Given the description of an element on the screen output the (x, y) to click on. 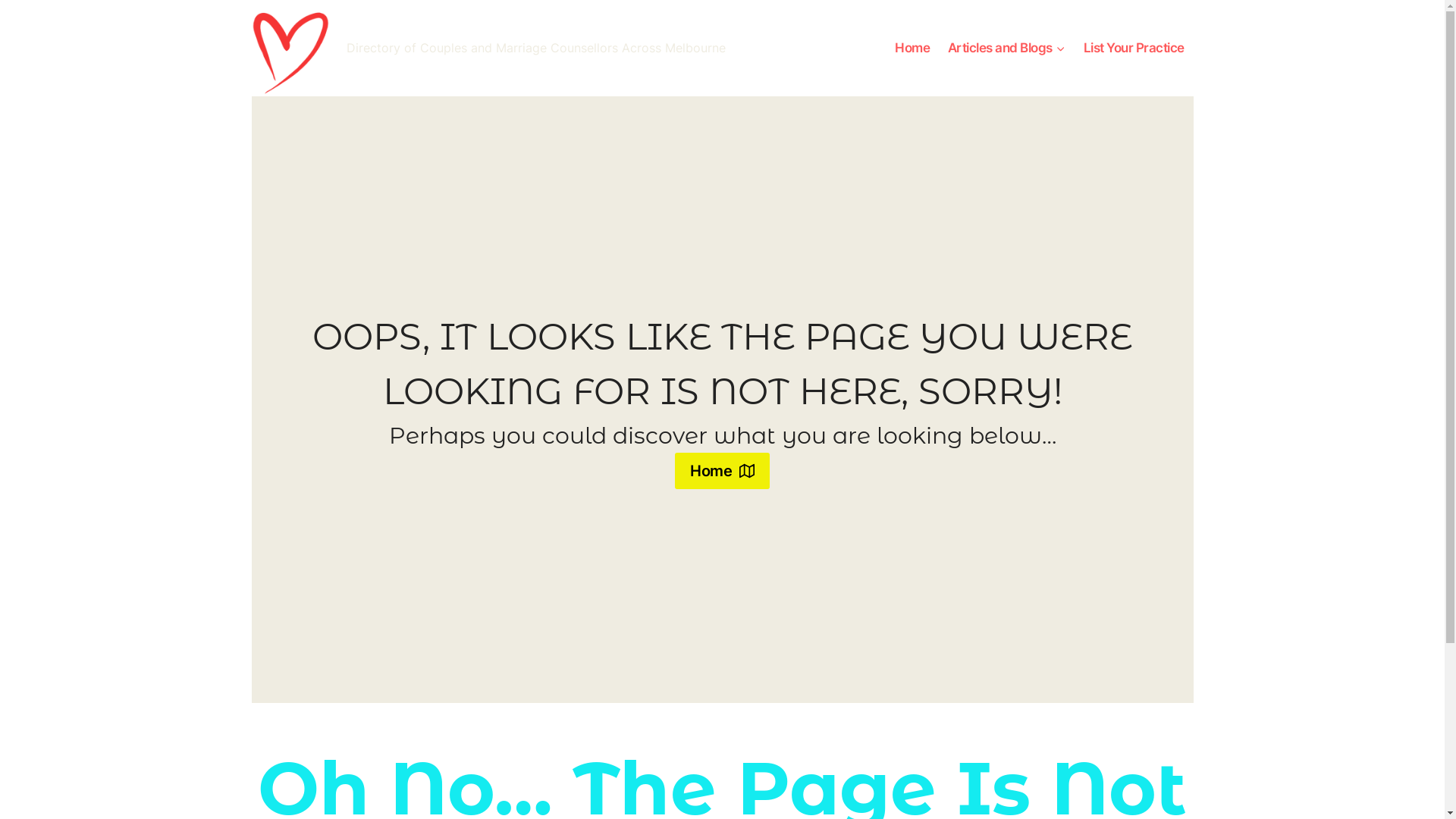
Home Element type: text (721, 470)
List Your Practice Element type: text (1133, 47)
Home Element type: text (911, 47)
Articles and Blogs Element type: text (1006, 47)
